Given the description of an element on the screen output the (x, y) to click on. 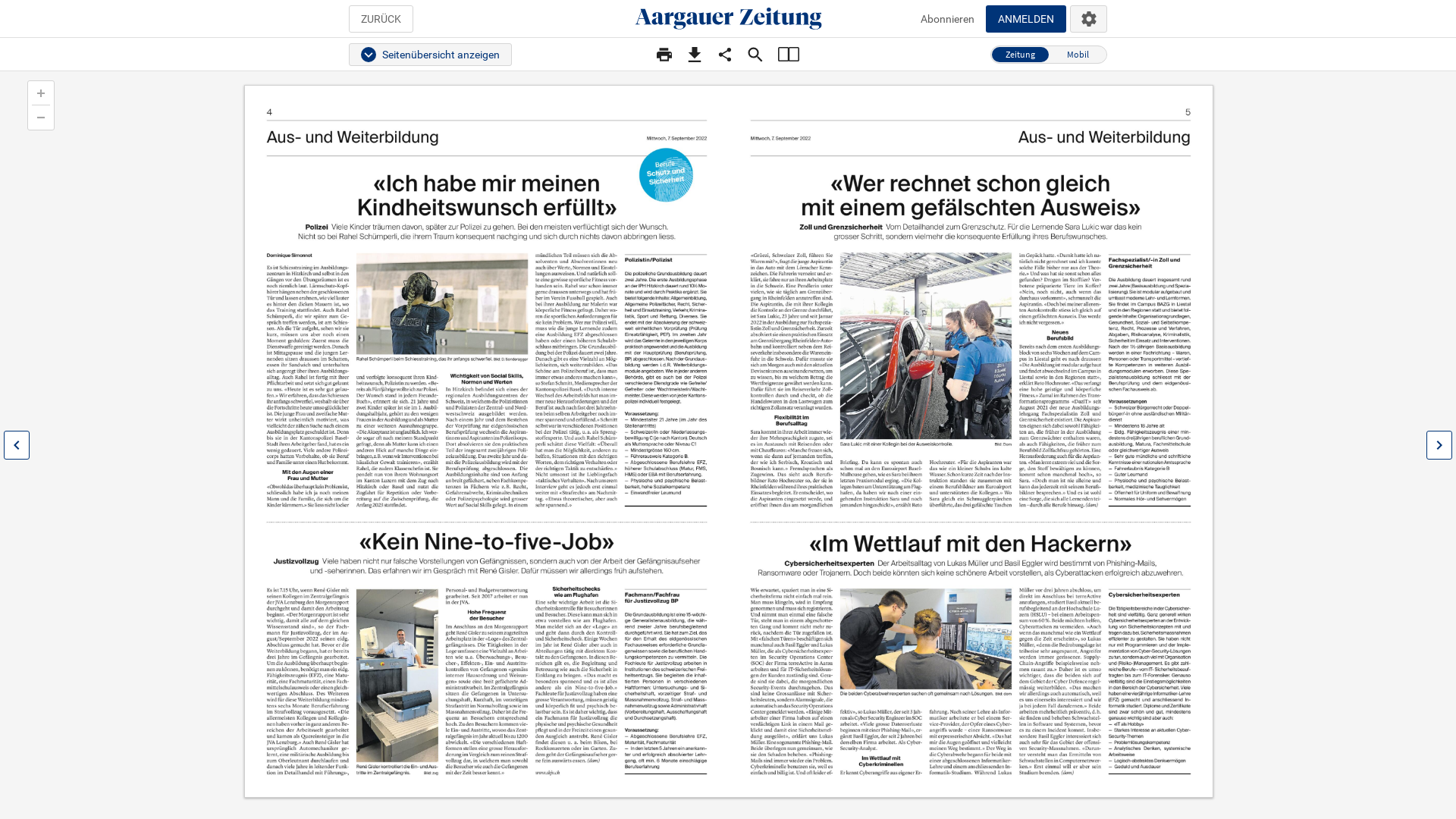
Abonnieren Element type: text (947, 18)
Verkleinern Element type: hover (40, 117)
